Given the description of an element on the screen output the (x, y) to click on. 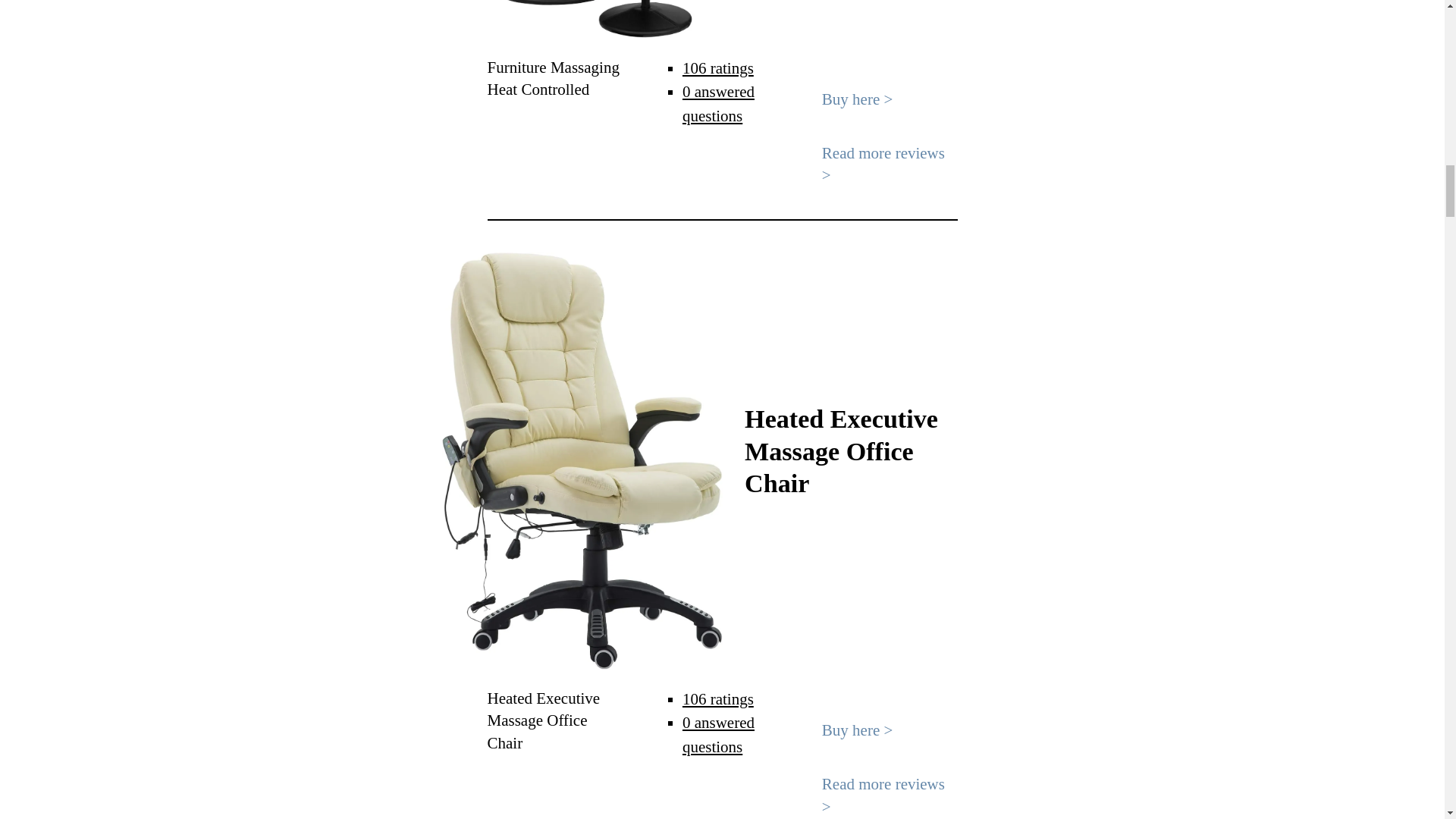
106 ratings (718, 67)
